Given the description of an element on the screen output the (x, y) to click on. 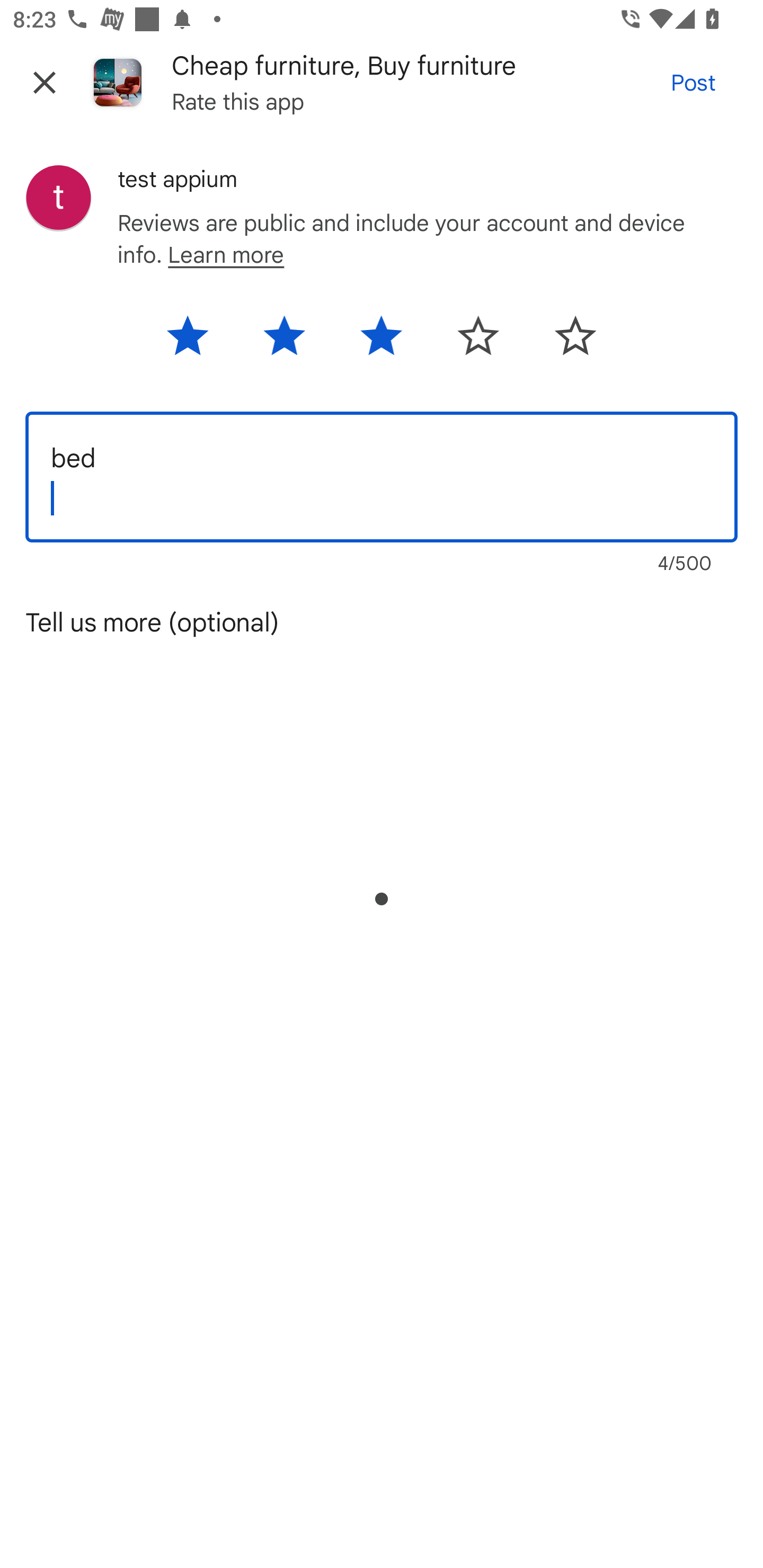
Close (44, 82)
Post (692, 81)
First star selected (198, 341)
Second star selected (283, 341)
Third star selected (380, 341)
Fourth star unselected (477, 341)
Fifth star unselected (563, 341)
bed
 (381, 476)
